Given the description of an element on the screen output the (x, y) to click on. 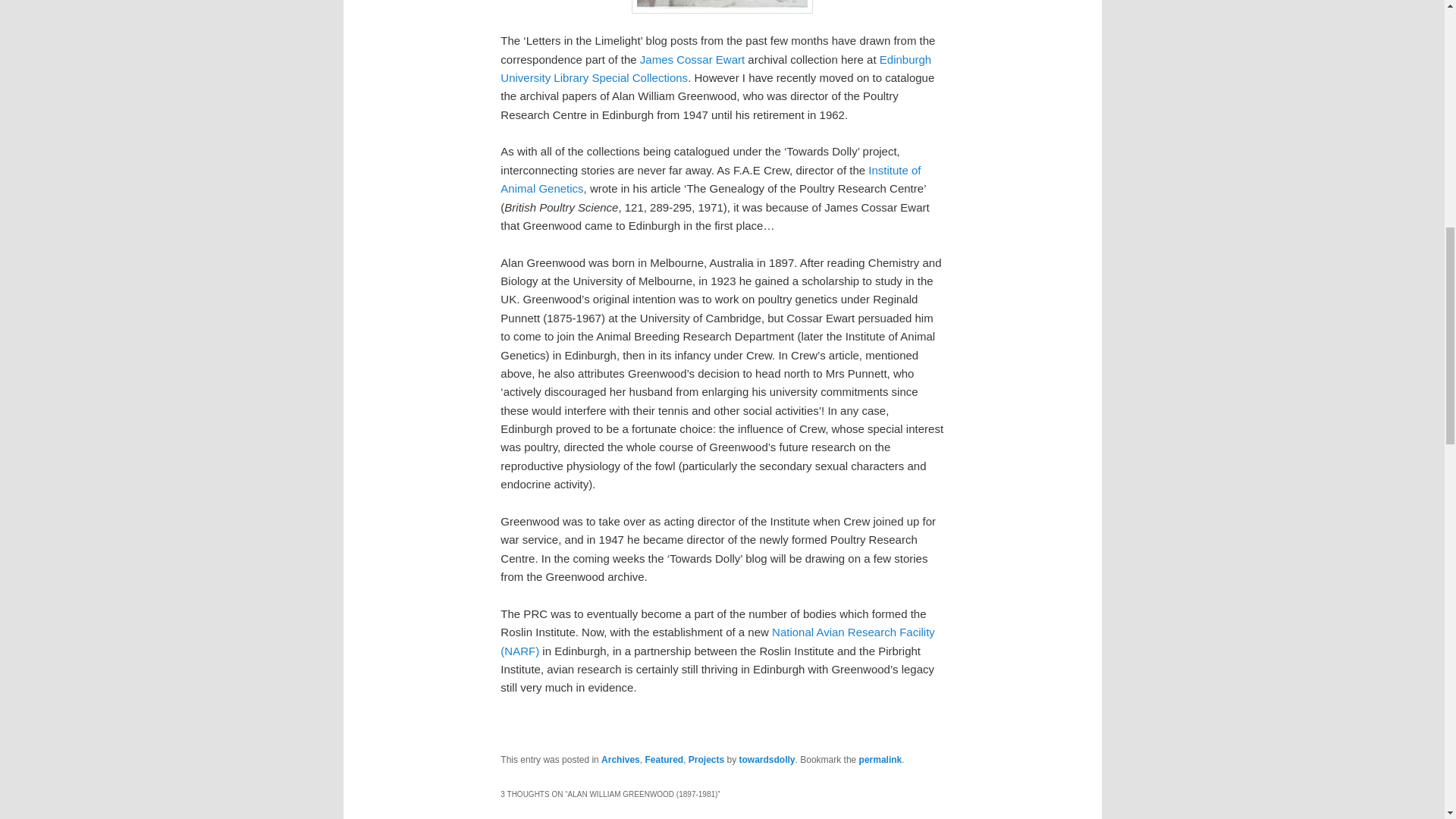
Star of the Stripes (692, 59)
Edinburgh University Library Special Collections (715, 68)
Archives (620, 759)
Institute of Animal Genetics (710, 178)
Projects (705, 759)
James Cossar Ewart (692, 59)
permalink (880, 759)
Featured (663, 759)
towardsdolly (766, 759)
The Institute of Animal Genetics (710, 178)
